Given the description of an element on the screen output the (x, y) to click on. 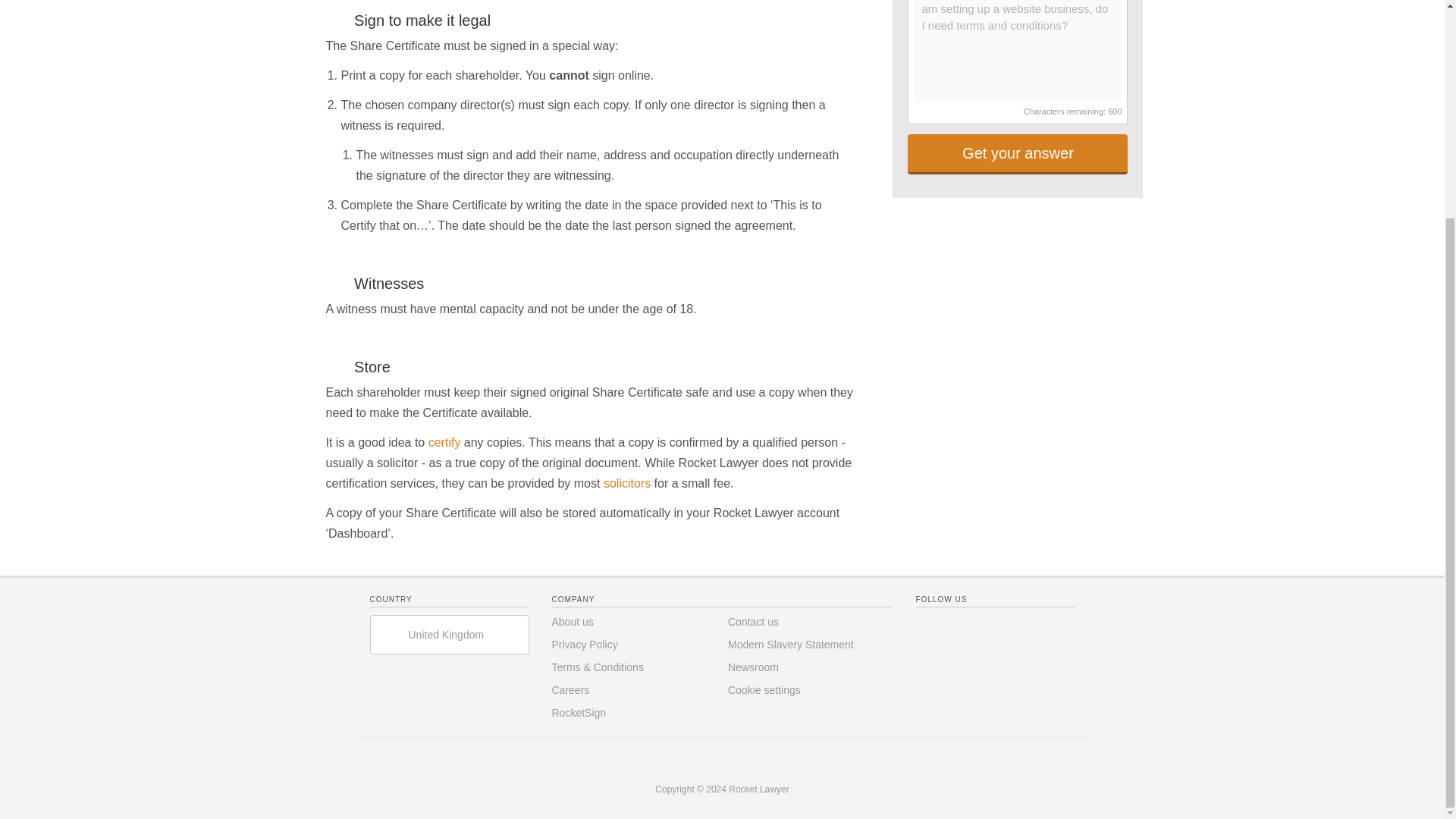
twitter (957, 626)
linkedin (987, 626)
facebook (927, 626)
